Given the description of an element on the screen output the (x, y) to click on. 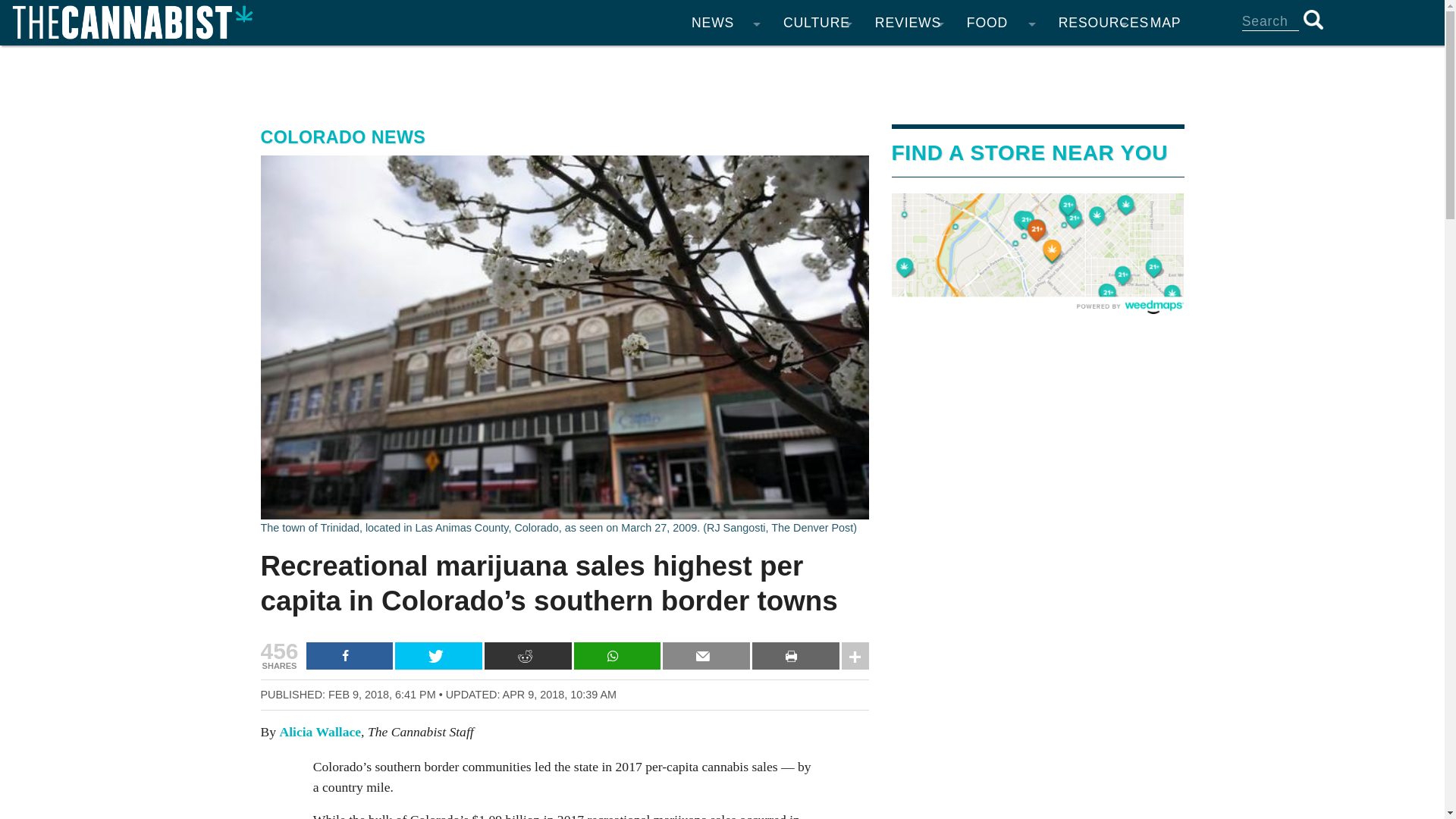
POT AND PARENTING (817, 212)
View all posts in Colorado News (343, 137)
WORLD CULTURE (817, 272)
YEAR IN REVIEW (725, 272)
WORLD NEWS (725, 151)
2015 (633, 303)
BUSINESS (725, 212)
STRAIN REVIEWS (909, 60)
HIGH MINDED PODCAST BY THE CANNABIST (817, 303)
CALIFORNIA (725, 91)
2016 (633, 272)
CANNABIS RECIPES (1000, 60)
ENTERTAINMENT (817, 60)
FOOD (1000, 22)
SPORTS (817, 121)
